Given the description of an element on the screen output the (x, y) to click on. 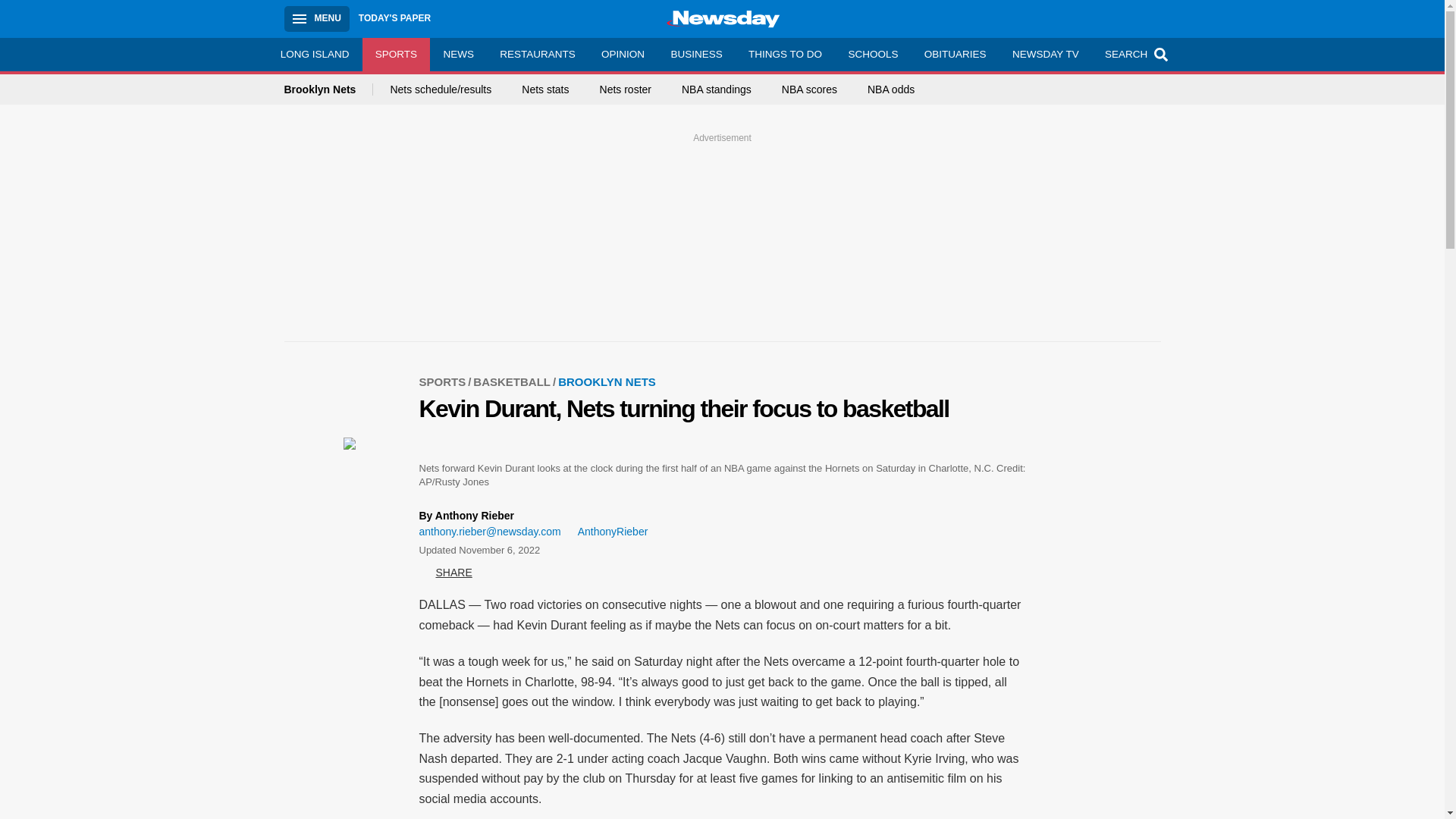
TODAY'S PAPER (394, 18)
THINGS TO DO (784, 54)
SPORTS (396, 54)
NEWSDAY TV (1045, 54)
NEWS (457, 54)
BROOKLYN NETS (606, 381)
NBA standings (716, 89)
AnthonyRieber (606, 531)
NBA scores (809, 89)
Brooklyn Nets (327, 89)
